Given the description of an element on the screen output the (x, y) to click on. 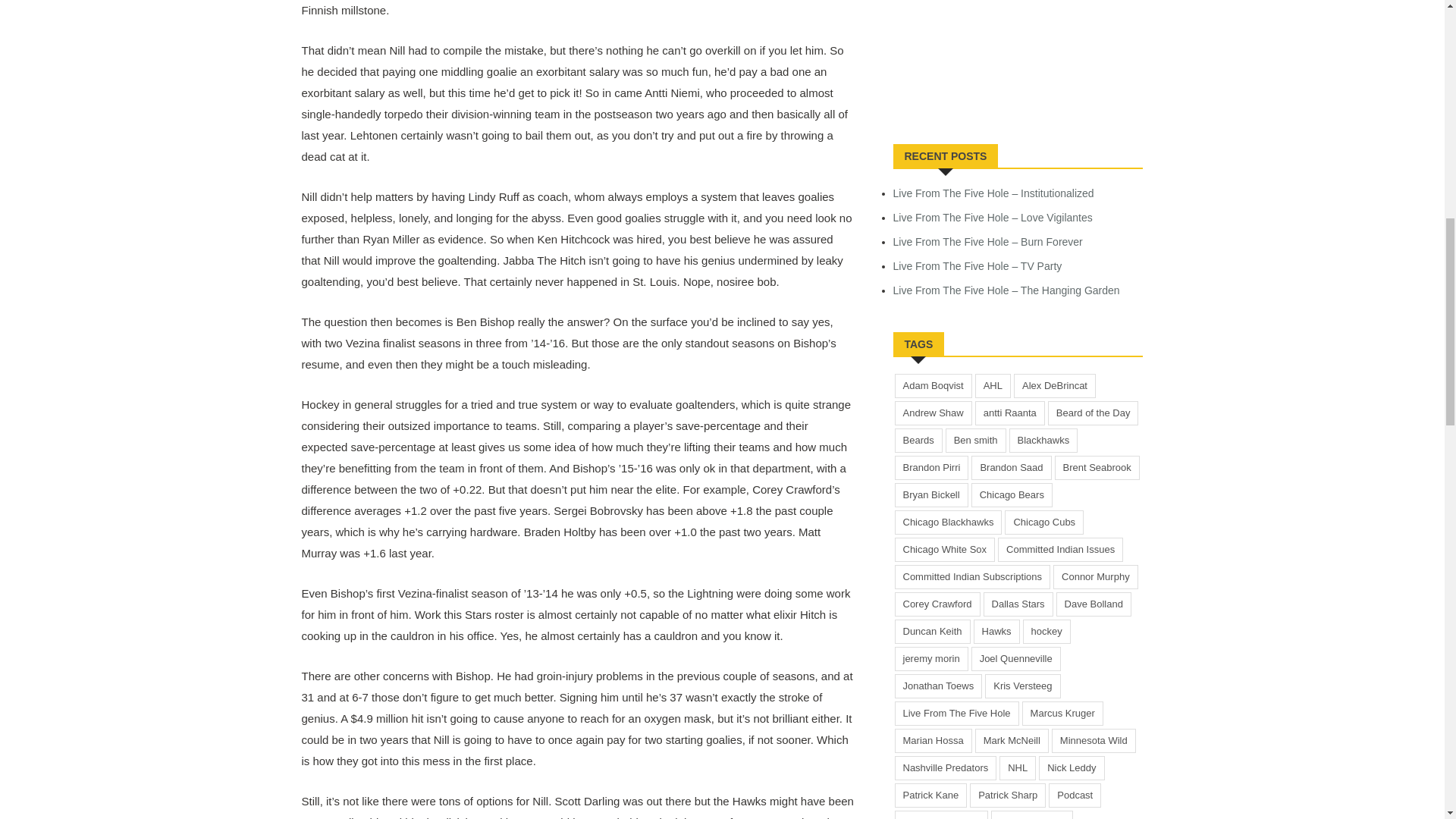
Adam Boqvist (933, 385)
AHL (992, 385)
